Given the description of an element on the screen output the (x, y) to click on. 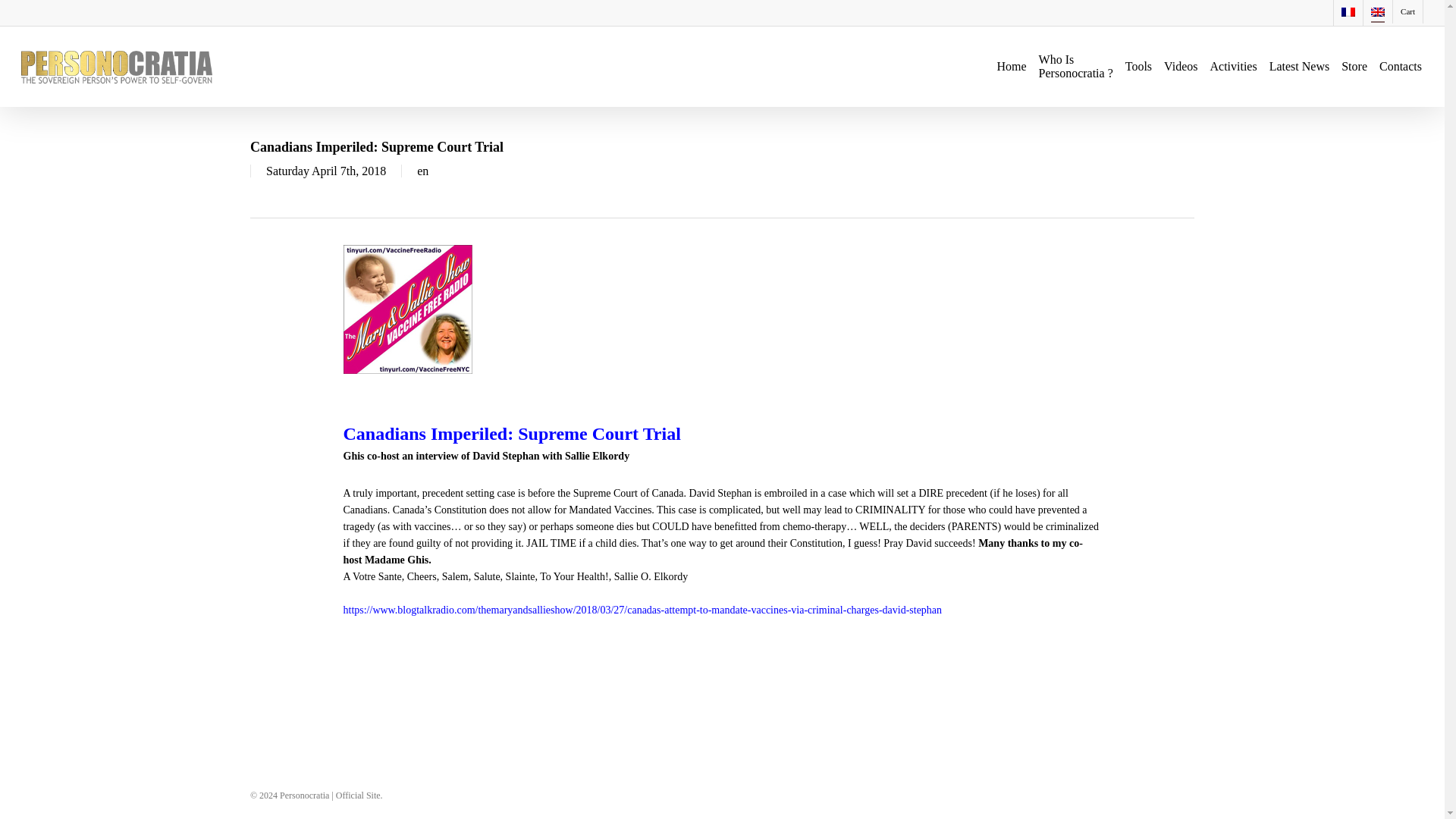
en (422, 170)
Activities (1076, 66)
Contacts (1232, 66)
Cart (1400, 66)
Tools (1406, 11)
Store (1138, 66)
Canadians Imperiled: Supreme Court Trial (1353, 66)
Videos (510, 433)
Latest News (1179, 66)
Home (1299, 66)
